Given the description of an element on the screen output the (x, y) to click on. 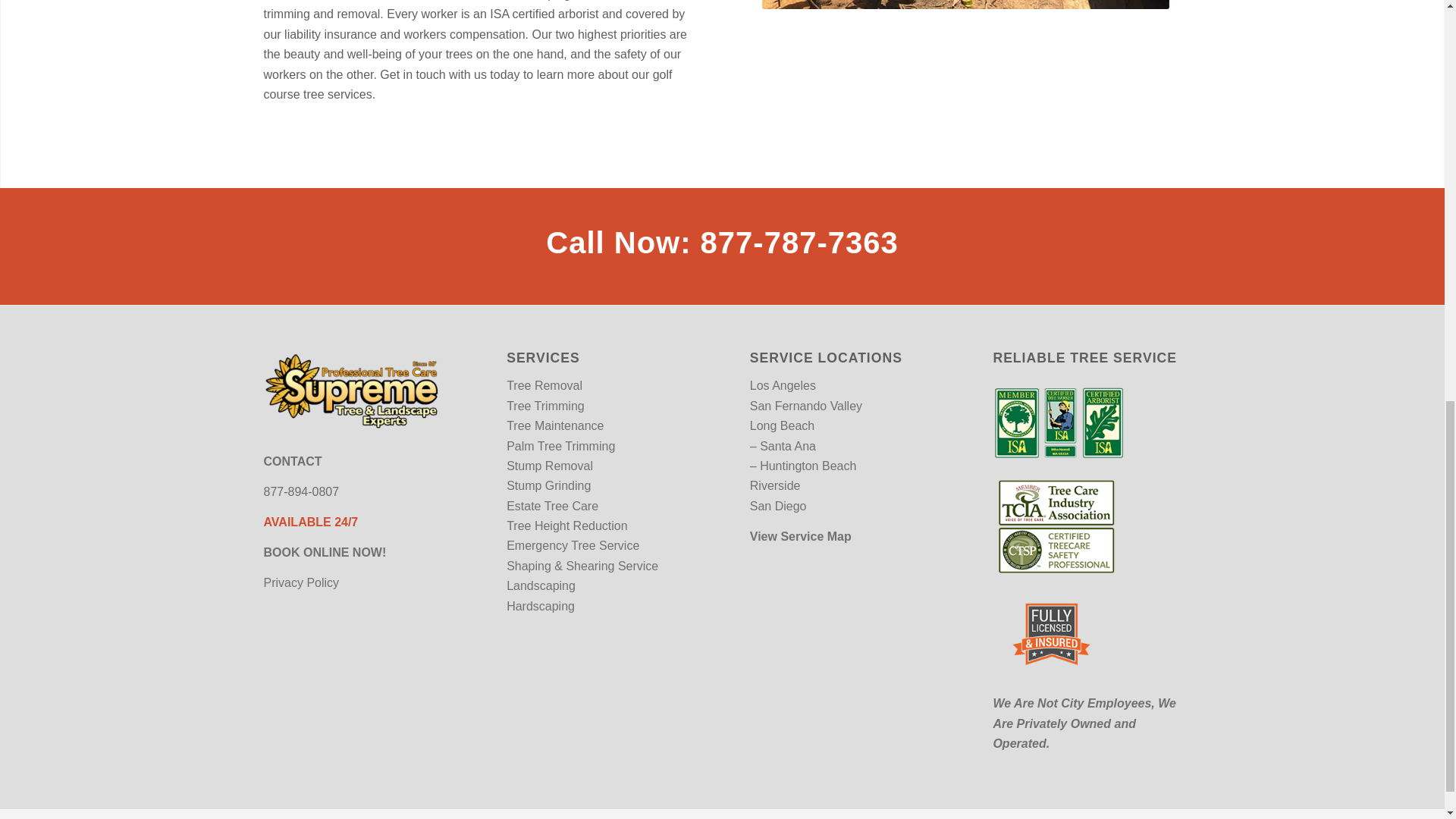
Facebook (1101, 818)
Twitter (1124, 818)
Instagram (1146, 818)
7891 (965, 4)
Linkedin (1169, 818)
